Given the description of an element on the screen output the (x, y) to click on. 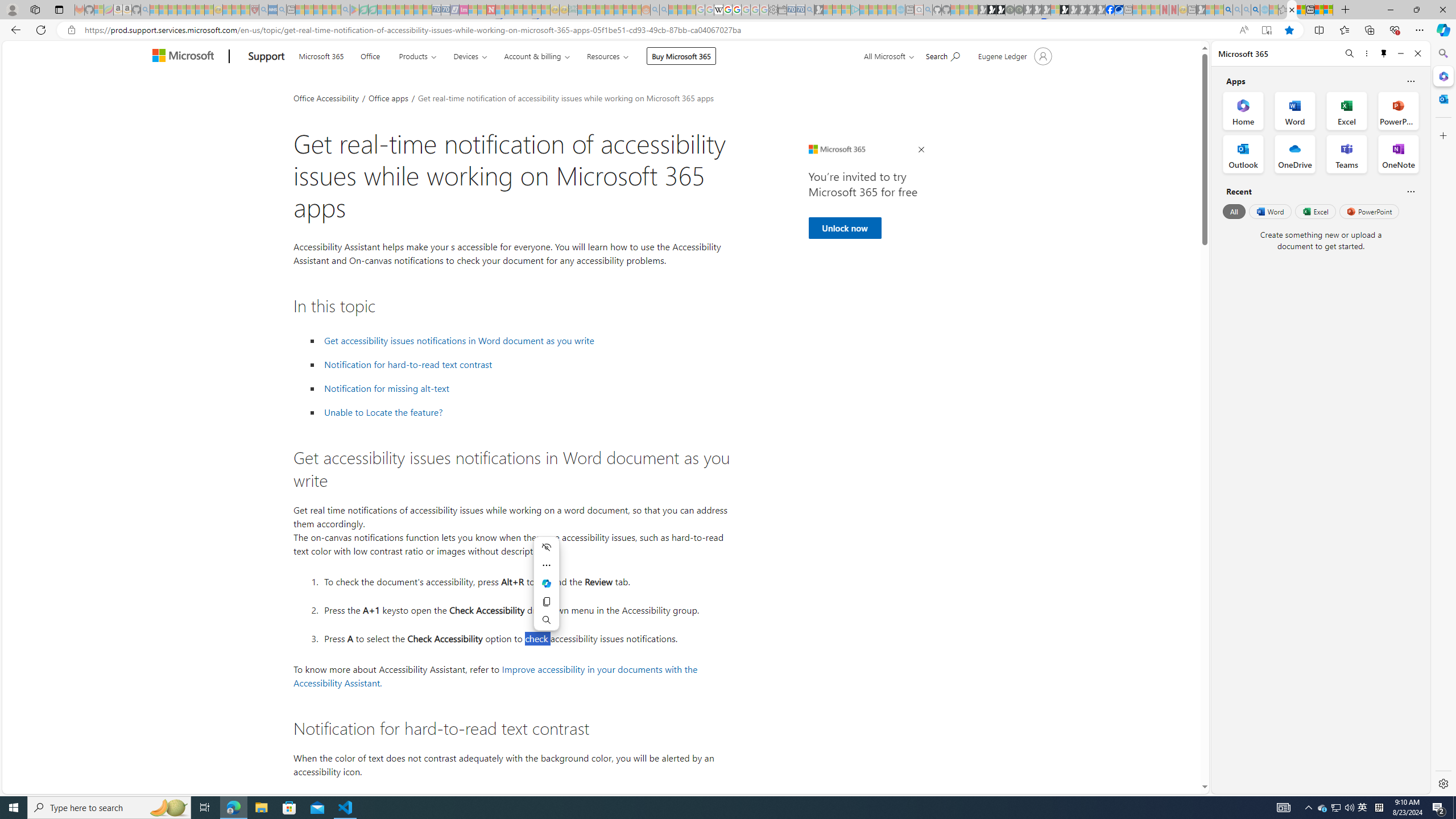
Notification for hard-to-read text contrast (525, 364)
 Unable to Locate the feature? (383, 412)
Office apps  (389, 97)
Excel (1315, 210)
Nordace | Facebook (1109, 9)
